Given the description of an element on the screen output the (x, y) to click on. 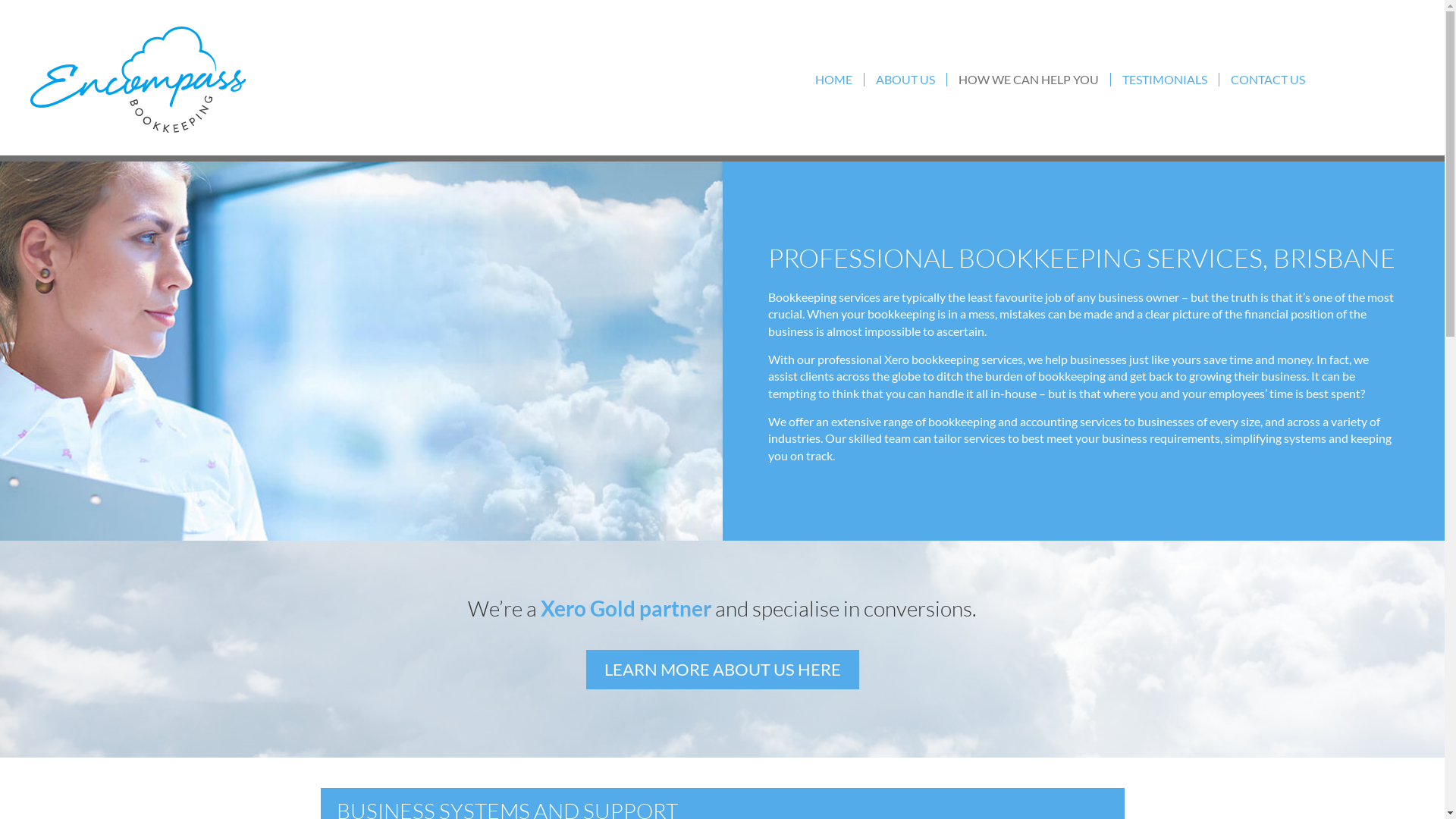
TESTIMONIALS Element type: text (1164, 79)
HOME Element type: text (833, 79)
HOW WE CAN HELP YOU Element type: text (1028, 79)
ABOUT US Element type: text (904, 79)
LEARN MORE ABOUT US HERE Element type: text (721, 669)
CONTACT US Element type: text (1267, 79)
logo Element type: hover (150, 79)
